Given the description of an element on the screen output the (x, y) to click on. 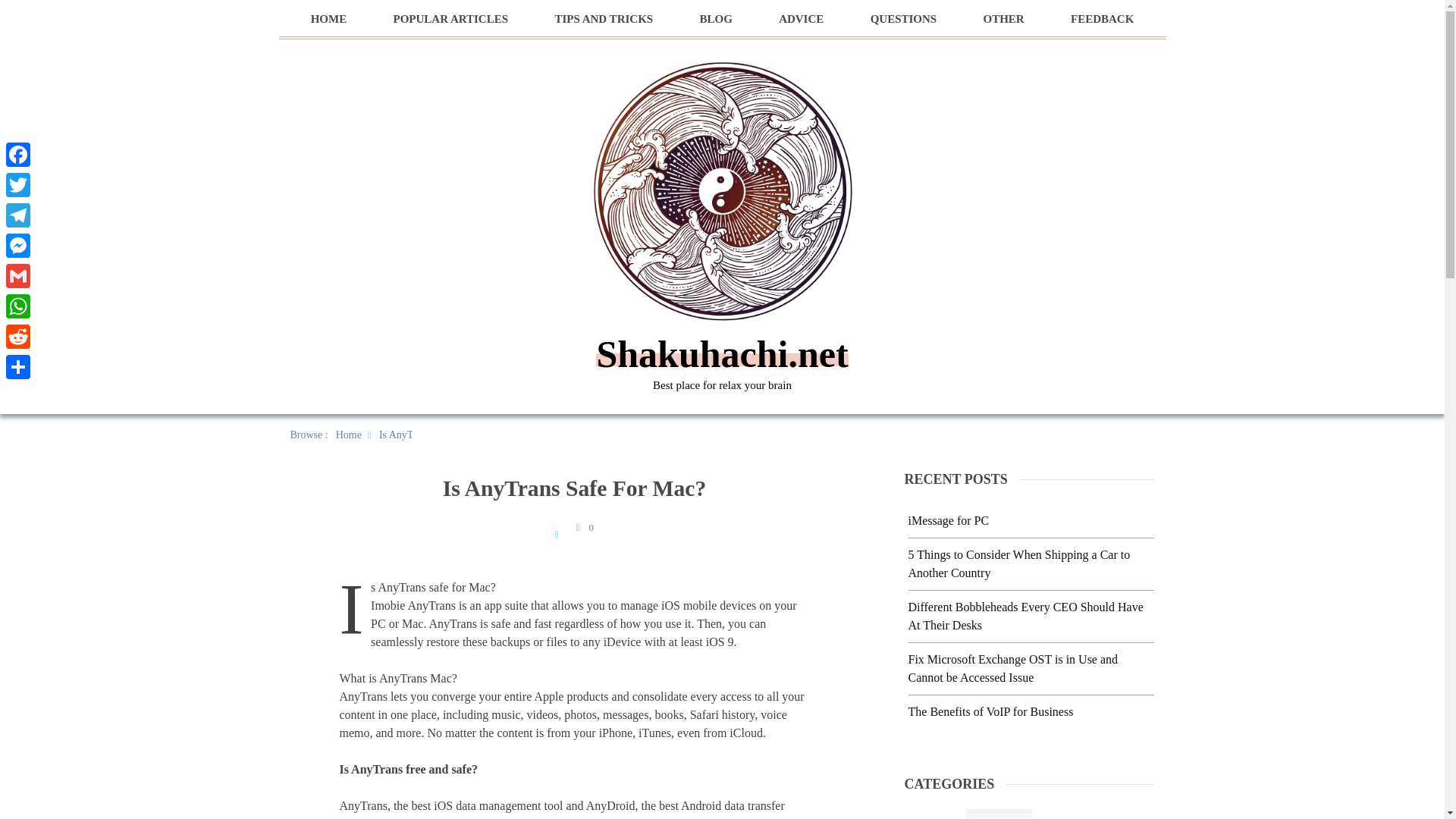
OTHER (1003, 19)
Different Bobbleheads Every CEO Should Have At Their Desks (1025, 615)
Facebook (17, 154)
Home (348, 434)
Shakuhachi.net (721, 353)
FEEDBACK (1101, 19)
Gmail (17, 276)
iMessage for PC (949, 520)
ADVICE (801, 19)
HOME (328, 19)
POPULAR ARTICLES (450, 19)
Telegram (17, 214)
WhatsApp (17, 306)
Messenger (17, 245)
